Given the description of an element on the screen output the (x, y) to click on. 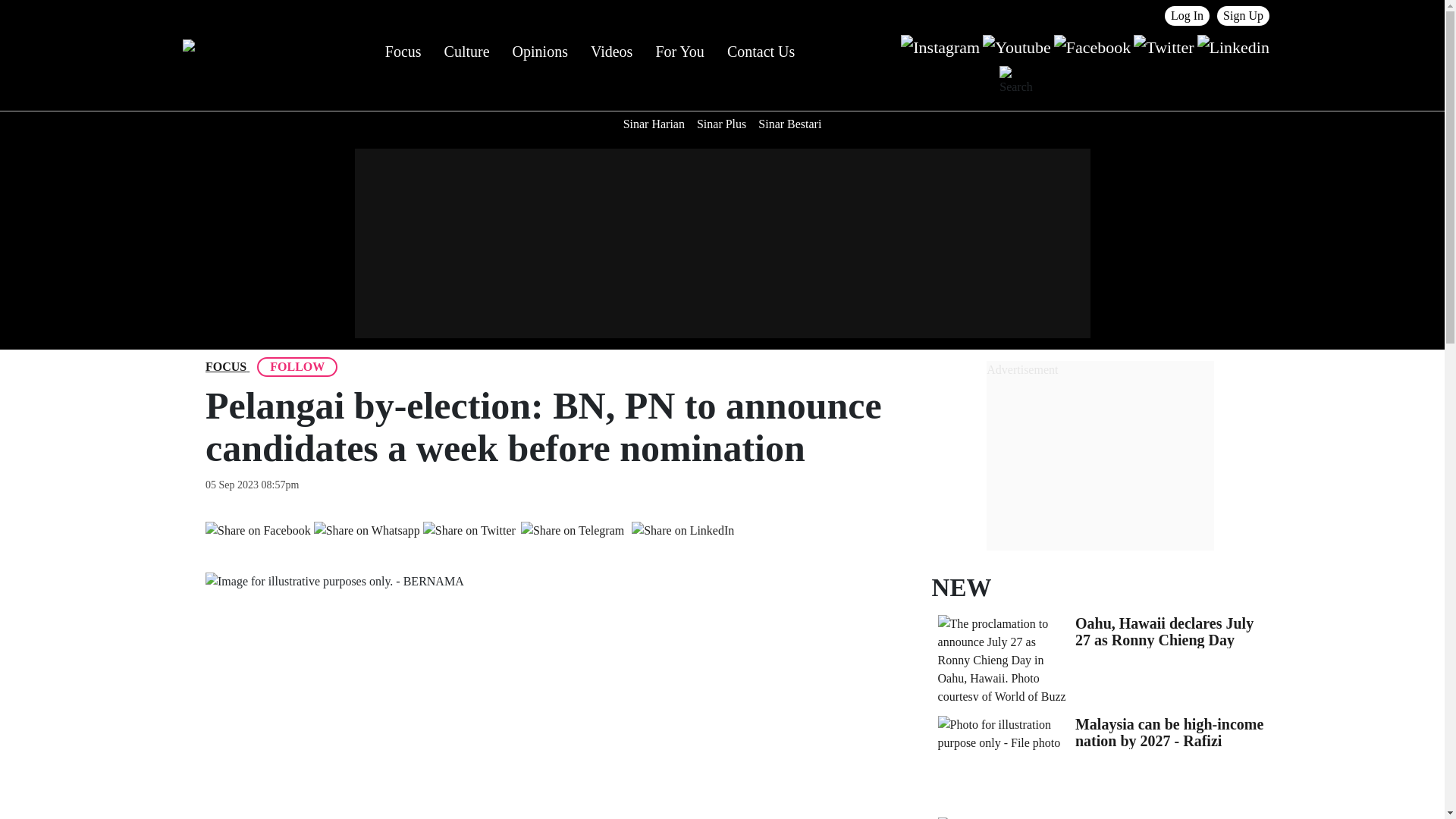
For You (679, 51)
Facebook (1092, 46)
Focus (225, 366)
Videos (611, 51)
Log In (1186, 15)
Sinar Bestari (789, 124)
Linkedin (1232, 46)
Share on LinkedIn (682, 530)
Sinar Daily (226, 51)
Share on Telegram (572, 530)
Contact Us (760, 51)
signup (1243, 15)
Twitter (1163, 46)
Culture (466, 51)
Share on Twitter (469, 529)
